Given the description of an element on the screen output the (x, y) to click on. 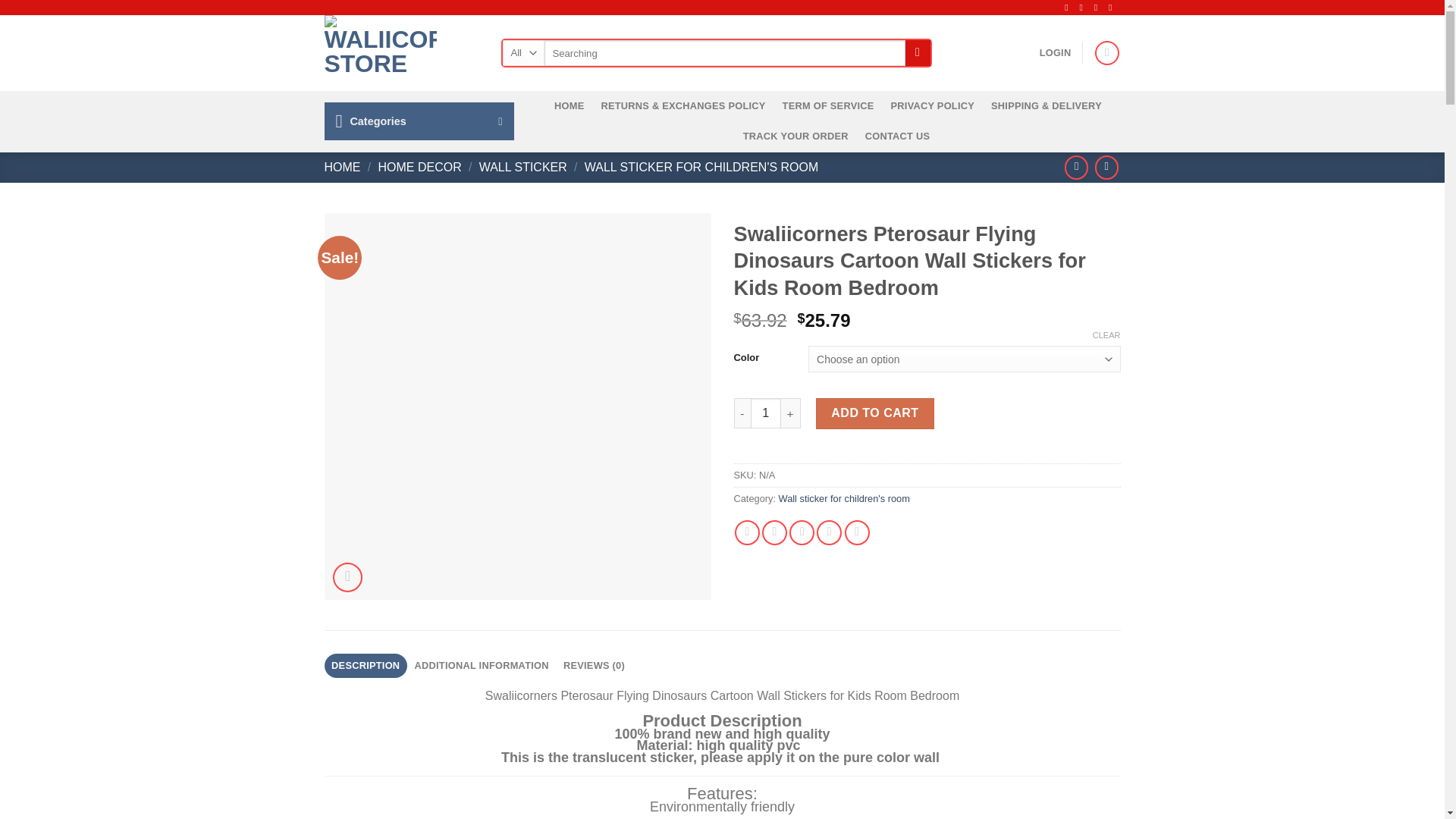
Qty (765, 413)
Search (917, 53)
- (742, 413)
1 (765, 413)
Cart (1106, 52)
LOGIN (1055, 52)
Share on Twitter (774, 532)
Follow on Instagram (1084, 7)
Share on Facebook (747, 532)
Follow on Facebook (1069, 7)
Zoom (347, 577)
Follow on Twitter (1098, 7)
Send us an email (1113, 7)
